Given the description of an element on the screen output the (x, y) to click on. 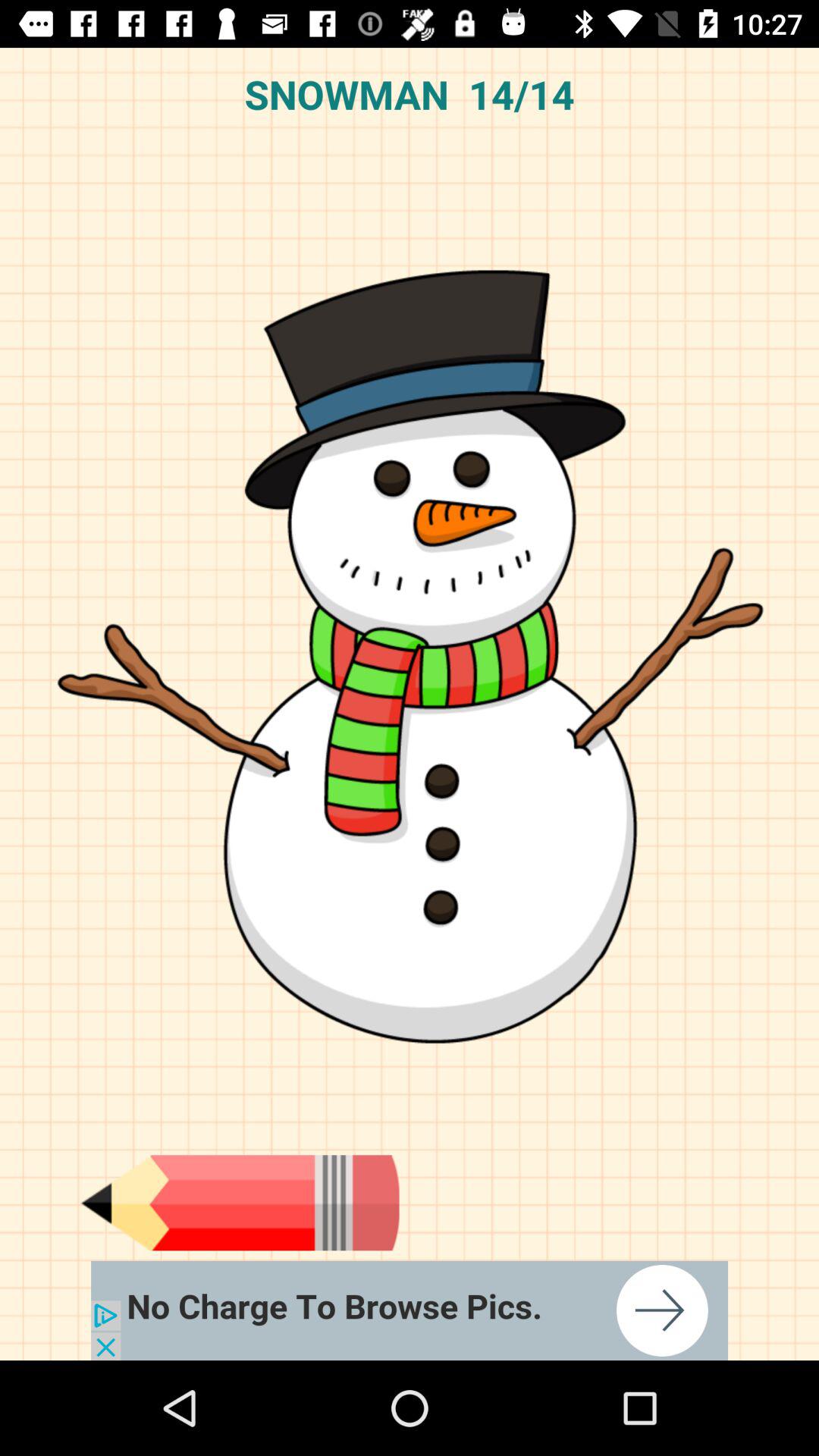
pencil page (239, 1202)
